Given the description of an element on the screen output the (x, y) to click on. 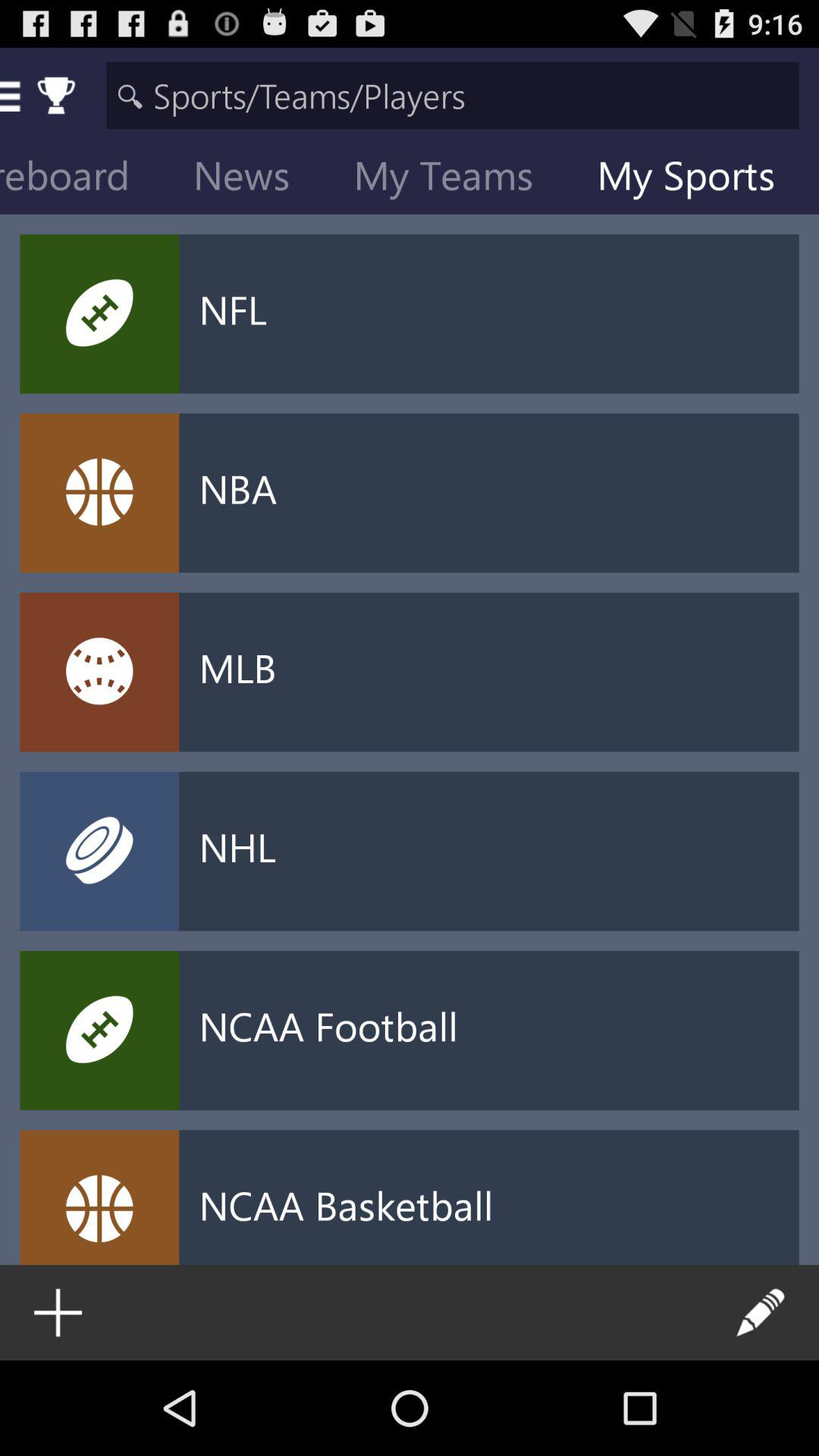
select the icon to the left of my sports item (455, 178)
